Given the description of an element on the screen output the (x, y) to click on. 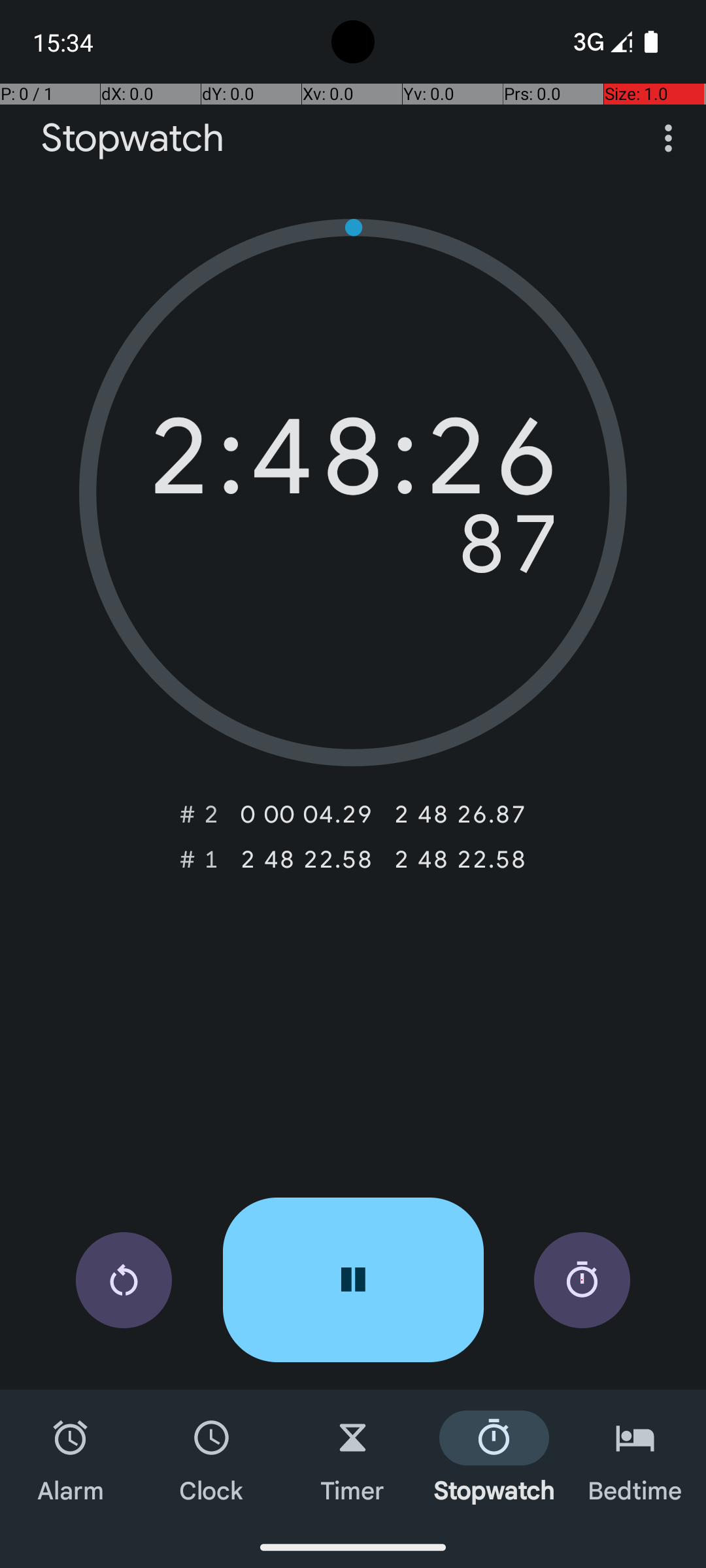
2:48:26 Element type: android.widget.TextView (352, 462)
# 2 Element type: android.widget.TextView (198, 814)
0‎ 00‎ 04.21 Element type: android.widget.TextView (305, 814)
2‎ 48‎ 26.79 Element type: android.widget.TextView (459, 814)
# 1 Element type: android.widget.TextView (198, 859)
2‎ 48‎ 22.58 Element type: android.widget.TextView (305, 859)
